Given the description of an element on the screen output the (x, y) to click on. 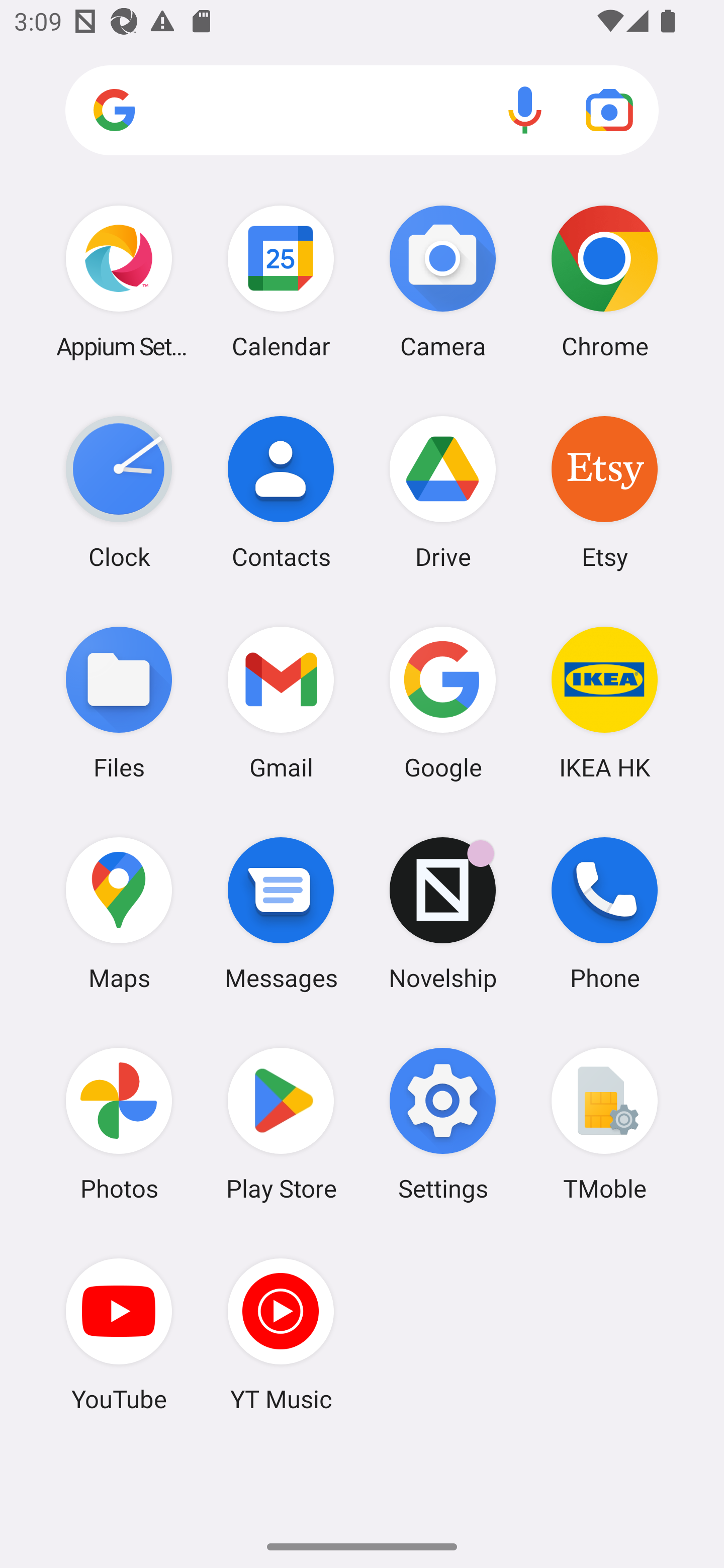
Search apps, web and more (361, 110)
Voice search (524, 109)
Google Lens (608, 109)
Appium Settings (118, 281)
Calendar (280, 281)
Camera (443, 281)
Chrome (604, 281)
Clock (118, 492)
Contacts (280, 492)
Drive (443, 492)
Etsy (604, 492)
Files (118, 702)
Gmail (280, 702)
Google (443, 702)
IKEA HK (604, 702)
Maps (118, 913)
Messages (280, 913)
Novelship Novelship has 5 notifications (443, 913)
Phone (604, 913)
Photos (118, 1124)
Play Store (280, 1124)
Settings (443, 1124)
TMoble (604, 1124)
YouTube (118, 1334)
YT Music (280, 1334)
